Given the description of an element on the screen output the (x, y) to click on. 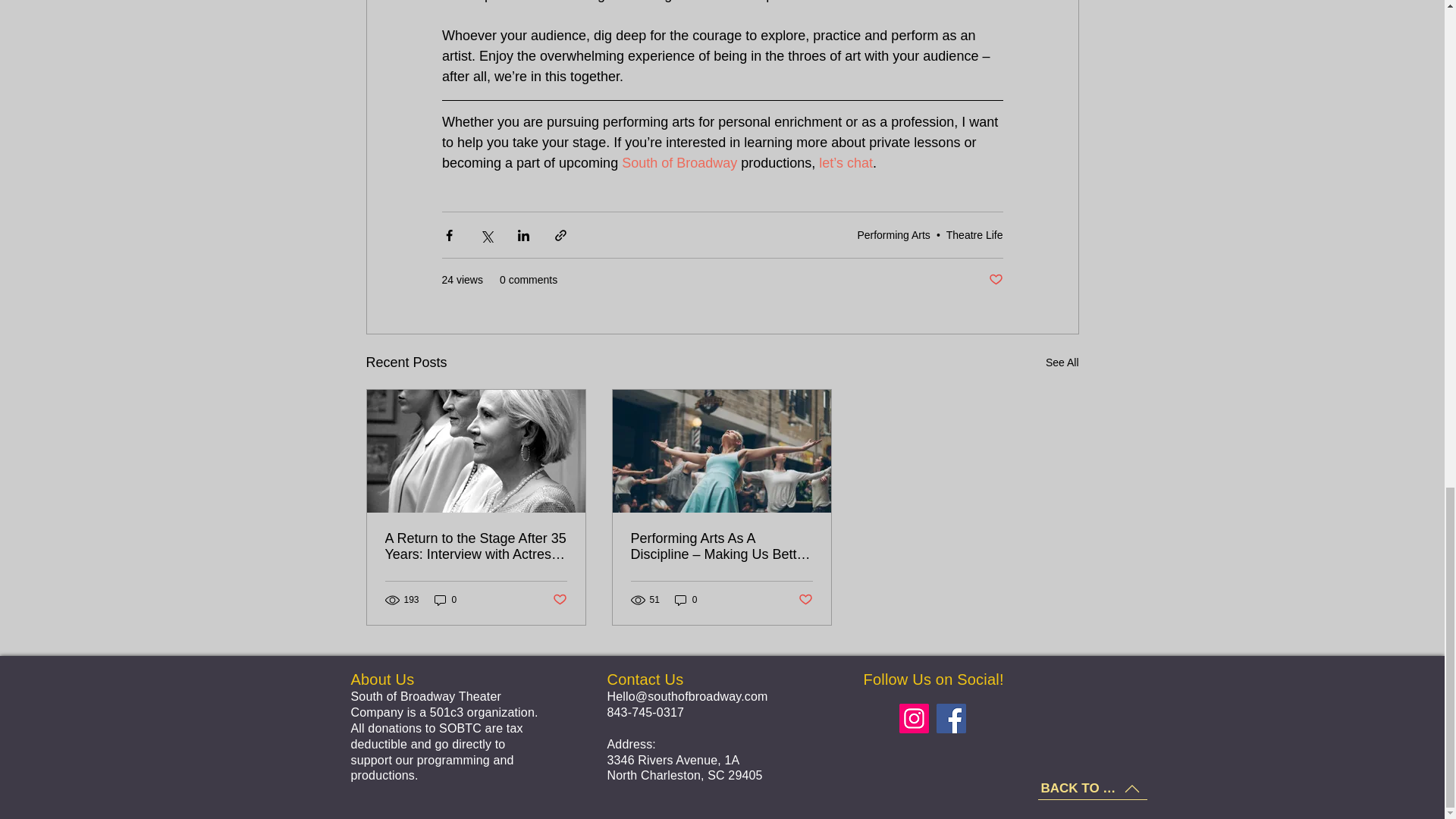
0 (445, 599)
BACK TO TOP (1091, 788)
See All (1061, 362)
Post not marked as liked (558, 600)
Post not marked as liked (995, 279)
South of Broadway (678, 162)
Performing Arts (893, 234)
Theatre Life (974, 234)
Post not marked as liked (804, 600)
0 (685, 599)
